Given the description of an element on the screen output the (x, y) to click on. 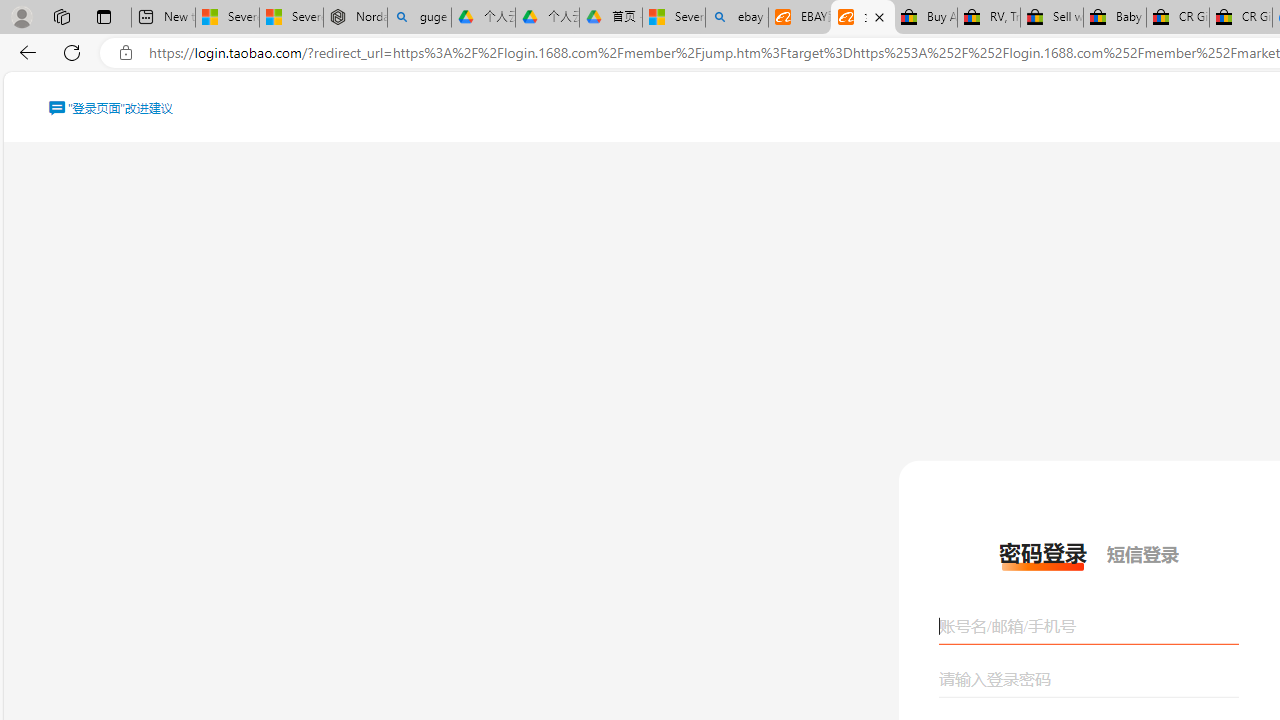
guge yunpan - Search (418, 17)
Baby Keepsakes & Announcements for sale | eBay (1114, 17)
RV, Trailer & Camper Steps & Ladders for sale | eBay (988, 17)
Refresh (72, 52)
